Given the description of an element on the screen output the (x, y) to click on. 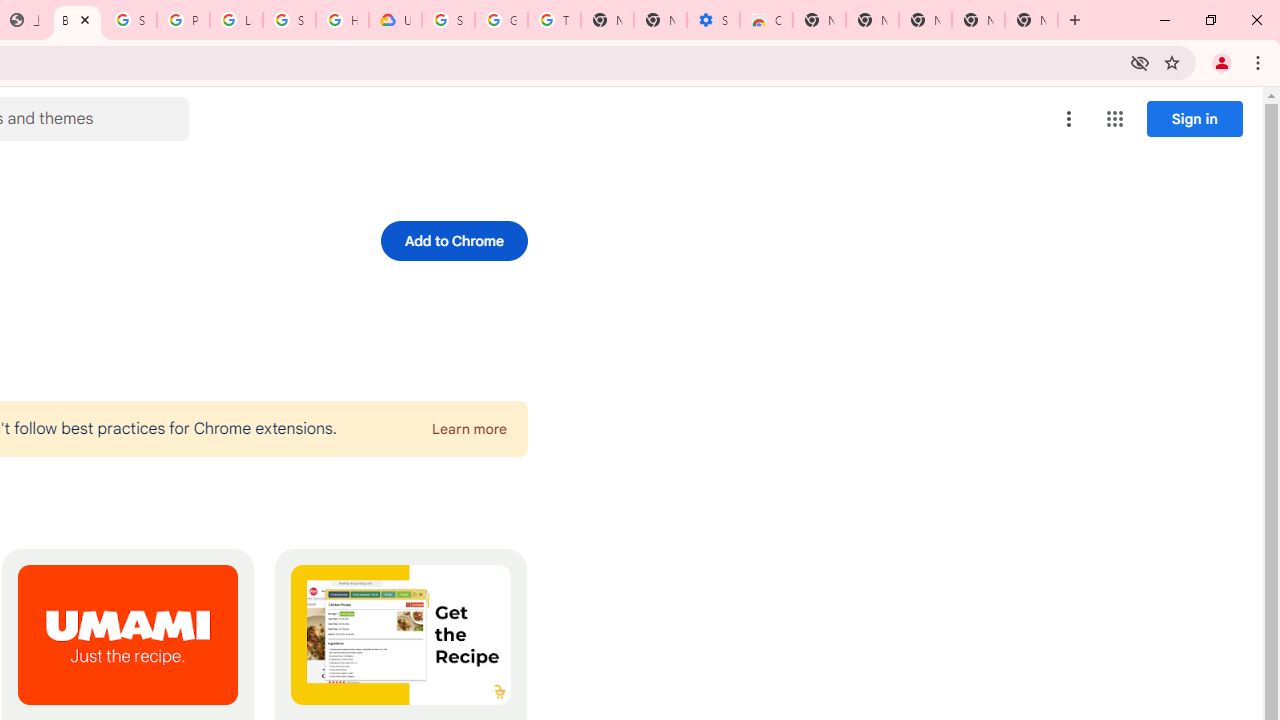
BrainBrake - Chrome Web Store (77, 20)
New Tab (819, 20)
Turn cookies on or off - Computer - Google Account Help (554, 20)
Settings - Accessibility (713, 20)
Sign in - Google Accounts (289, 20)
Google Account Help (501, 20)
